Given the description of an element on the screen output the (x, y) to click on. 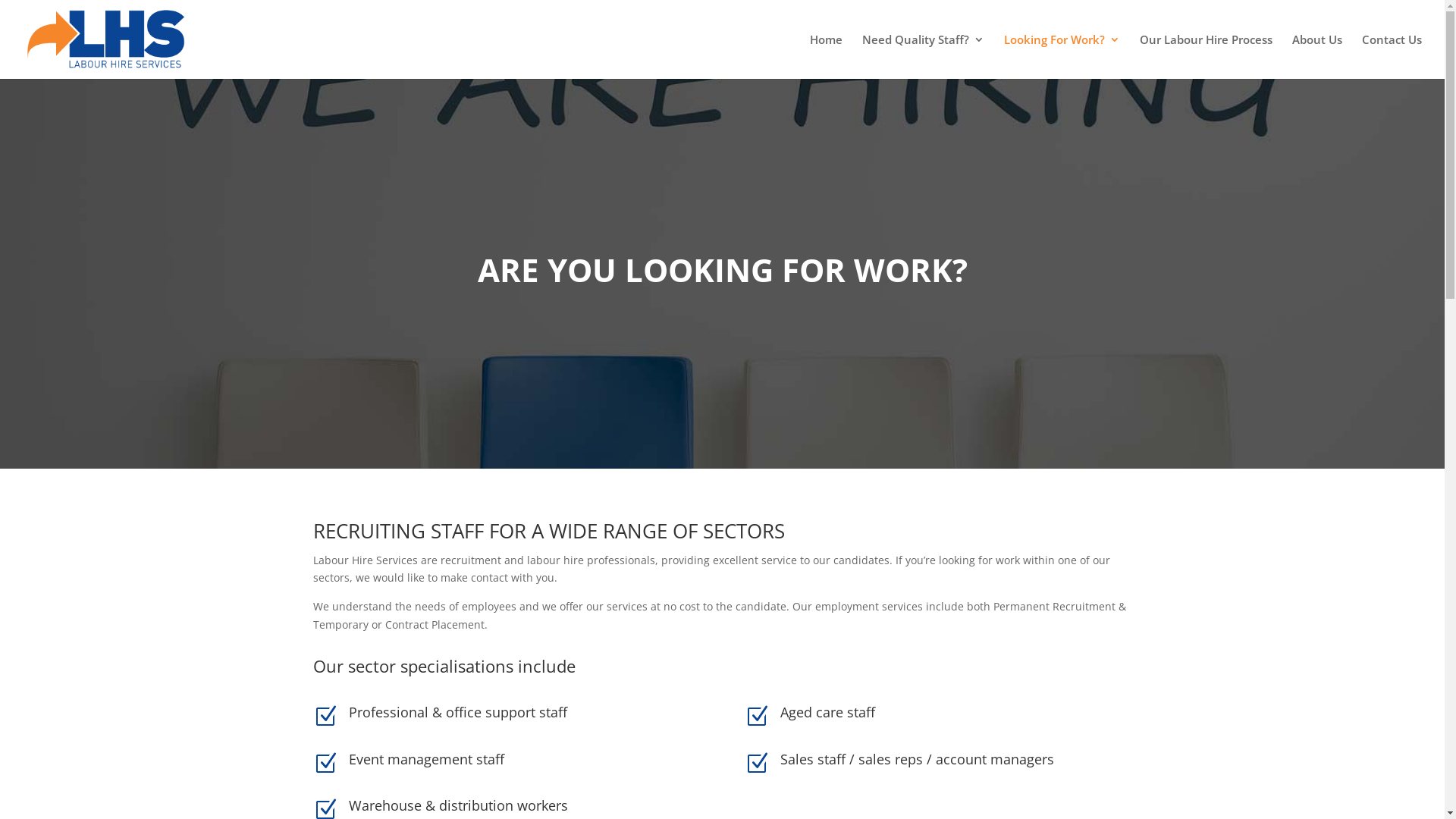
Z Element type: text (324, 716)
Event management staff Element type: text (426, 758)
Z Element type: text (756, 716)
Our Labour Hire Process Element type: text (1205, 56)
Warehouse & distribution workers Element type: text (457, 805)
Looking For Work? Element type: text (1062, 56)
Professional & office support staff Element type: text (457, 711)
Contact Us Element type: text (1391, 56)
Aged care staff Element type: text (827, 711)
Z Element type: text (756, 763)
Sales staff / sales reps / account managers Element type: text (917, 758)
Need Quality Staff? Element type: text (923, 56)
Home Element type: text (825, 56)
Z Element type: text (324, 763)
About Us Element type: text (1317, 56)
